Given the description of an element on the screen output the (x, y) to click on. 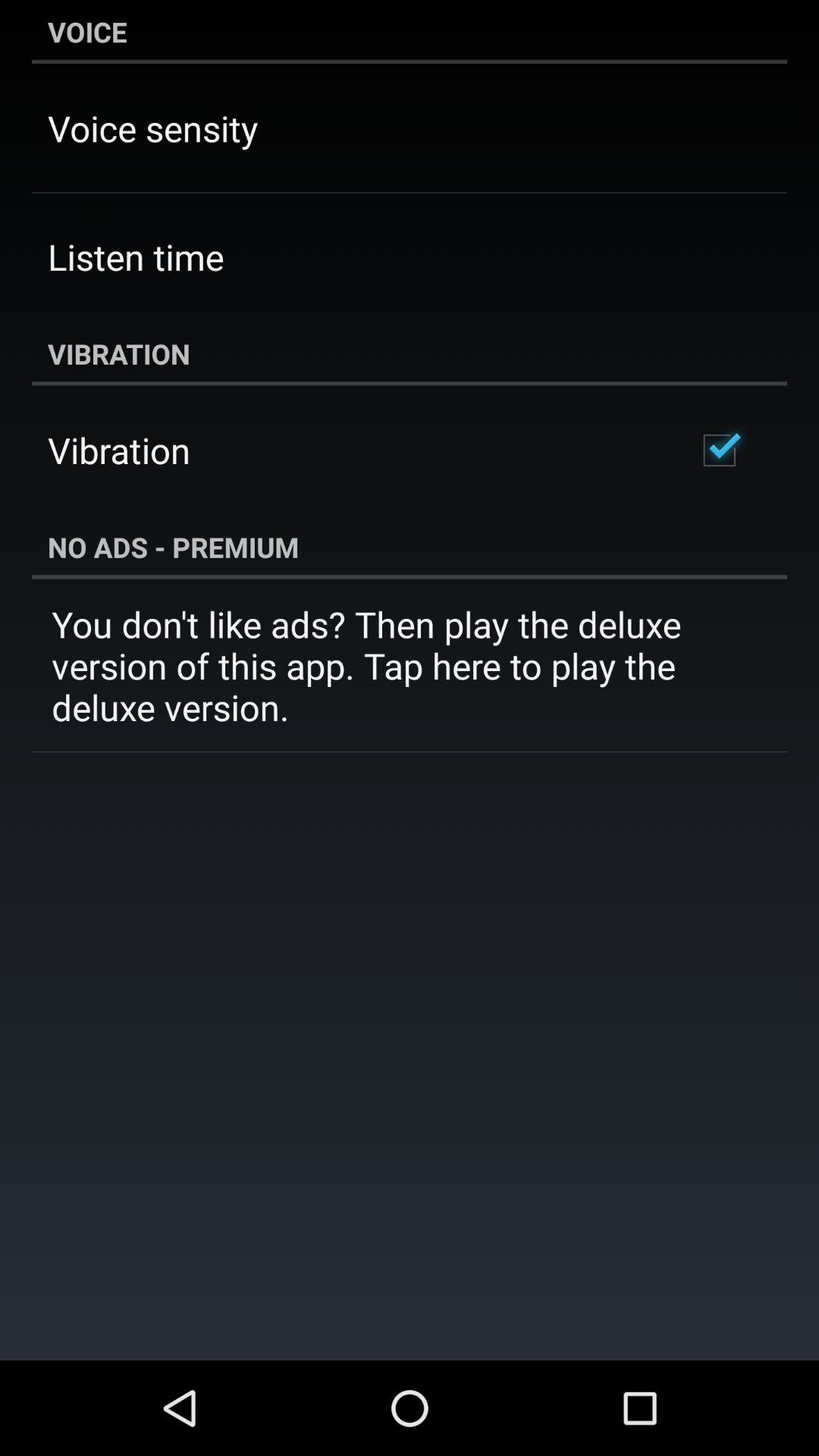
choose icon below the no ads - premium (409, 665)
